Given the description of an element on the screen output the (x, y) to click on. 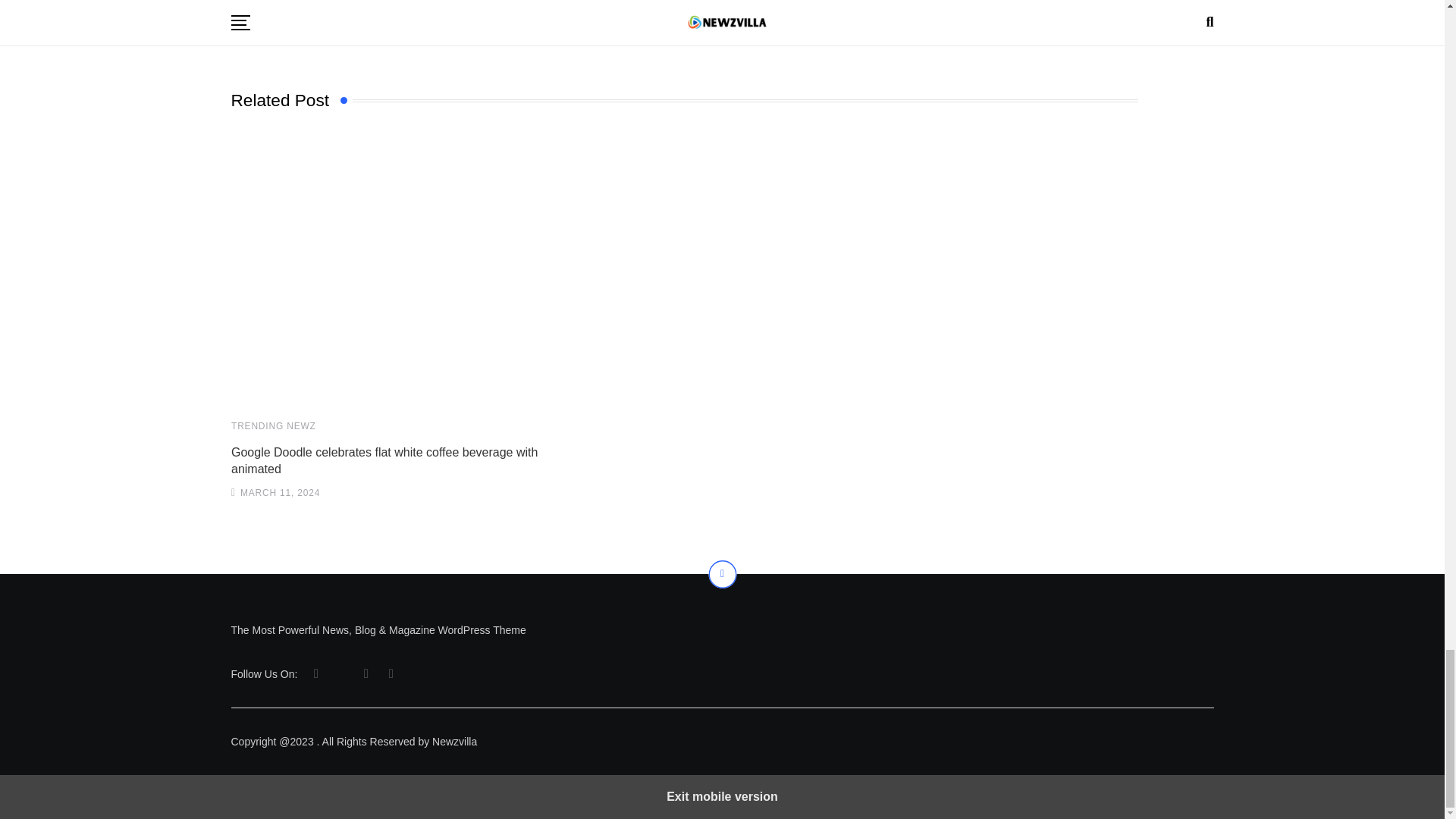
TRENDING NEWZ (272, 425)
Newzvilla (387, 268)
Leave a Comment (721, 27)
